Given the description of an element on the screen output the (x, y) to click on. 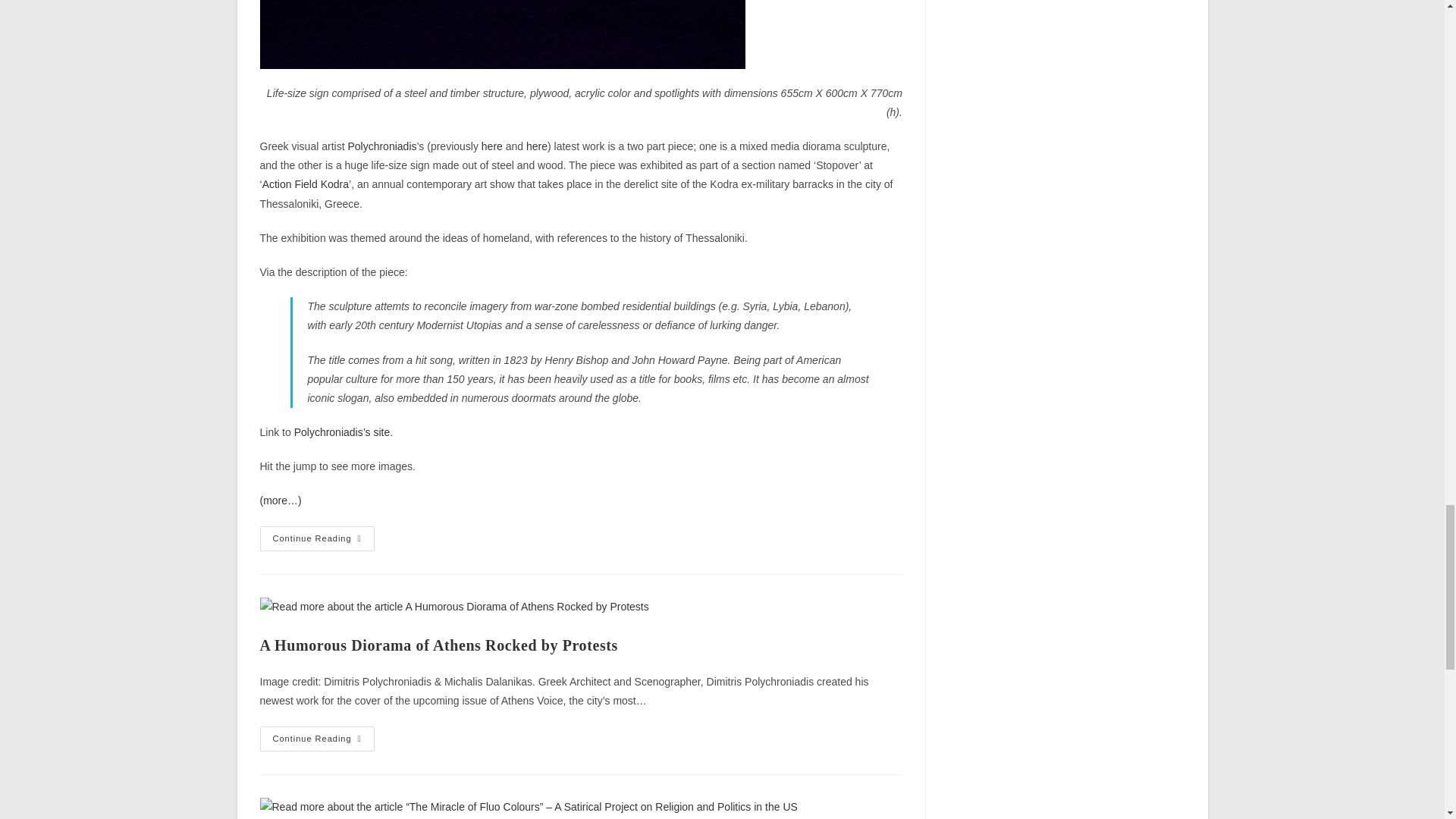
Polychroniadis (381, 146)
Home-Sweet-Home-Polychroniadis-07 (501, 34)
Action Field Kodra (305, 184)
Polychroniadis (381, 146)
Action Field Kodra (305, 184)
A Humorous Diorama of Athens Rocked by Protests (438, 645)
A Humorous Diorama of Athens Rocked by Protests (491, 146)
Polychroniadis (342, 431)
here (536, 146)
here (491, 146)
